Given the description of an element on the screen output the (x, y) to click on. 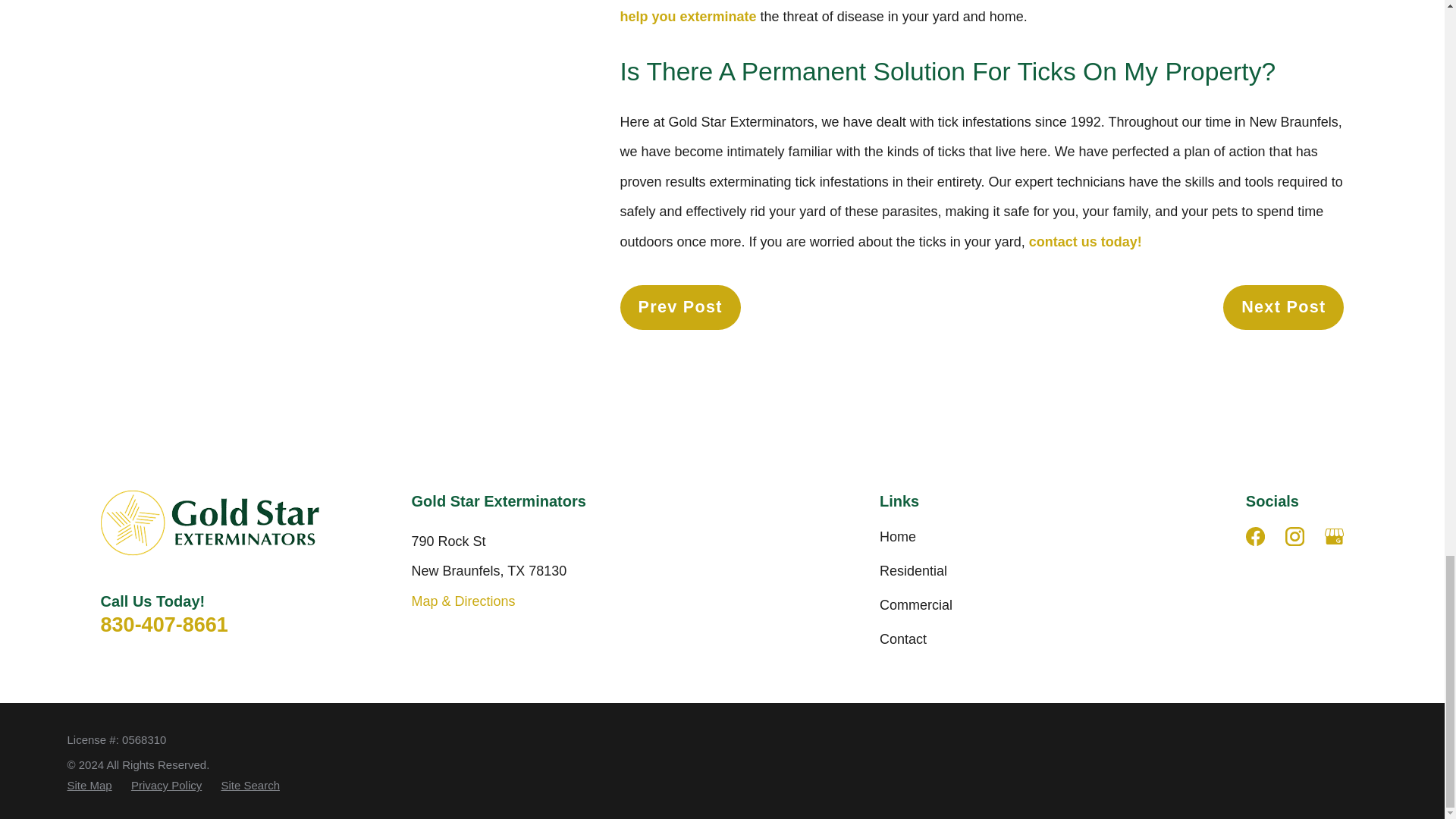
Facebook (1255, 535)
Google Business Profile (1333, 535)
Instagram (1294, 535)
Home (209, 522)
